Given the description of an element on the screen output the (x, y) to click on. 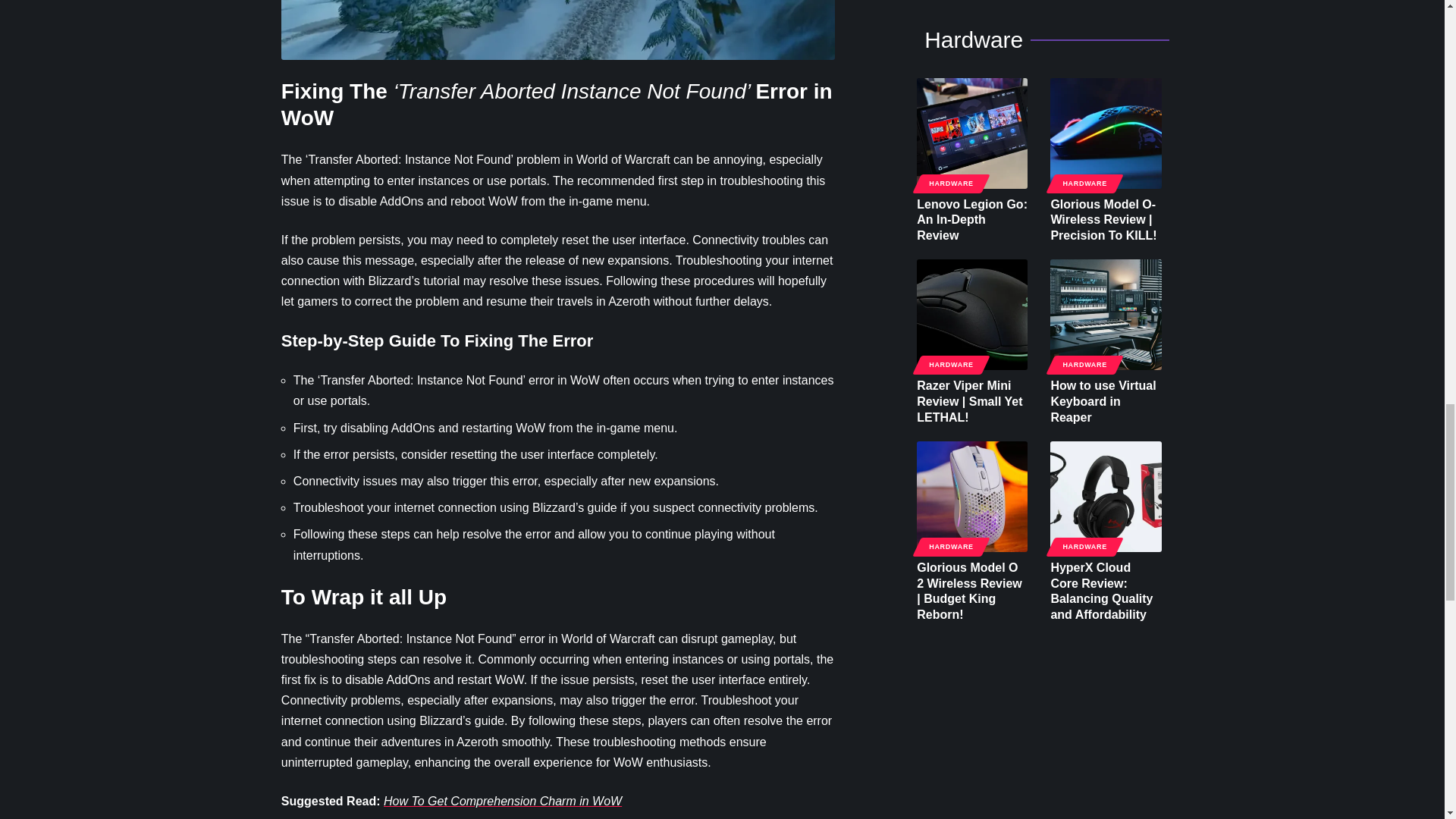
How To Get Comprehension Charm in WoW (502, 800)
